Given the description of an element on the screen output the (x, y) to click on. 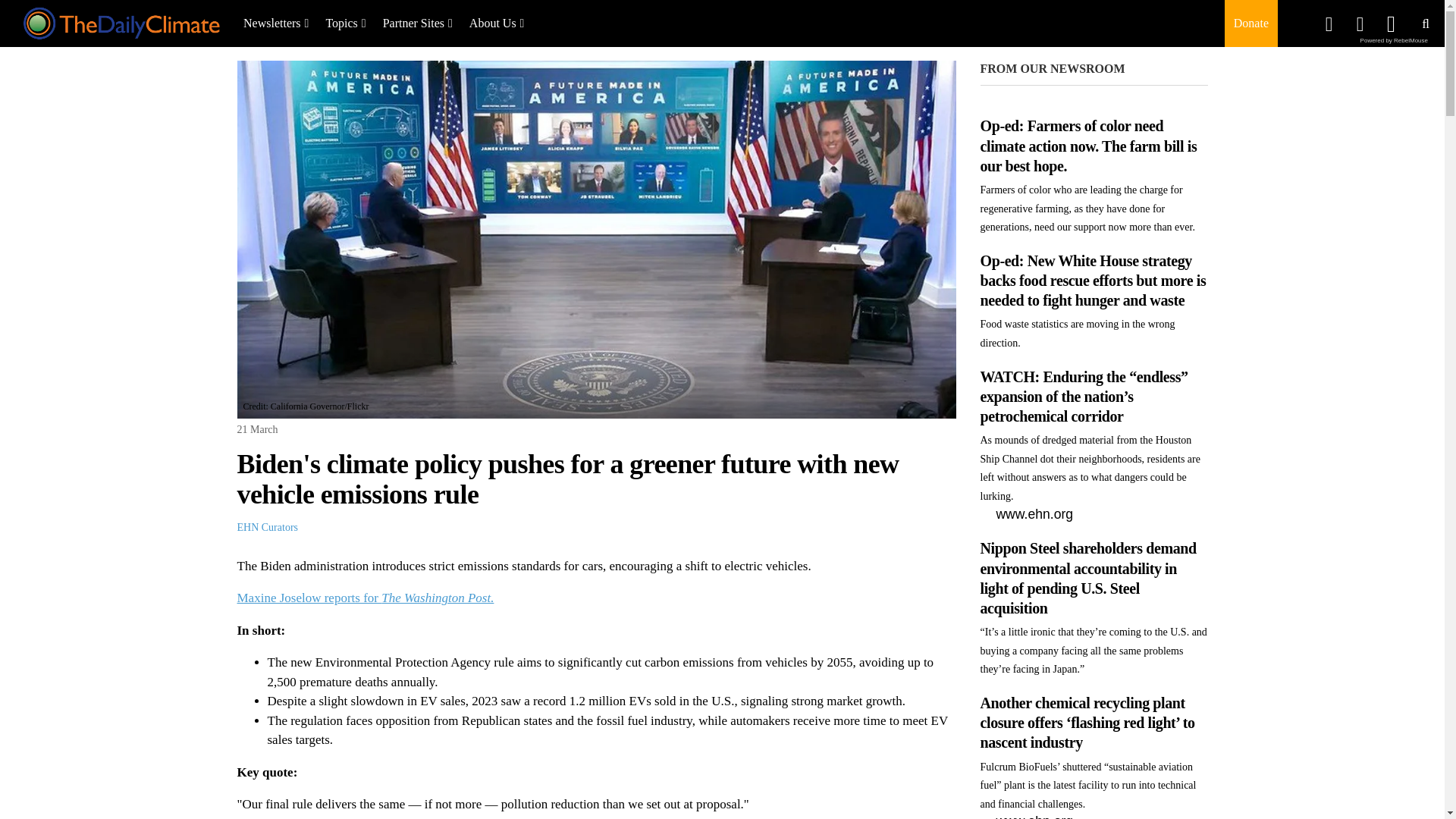
Donate (1250, 22)
Best CMS (1393, 40)
